Given the description of an element on the screen output the (x, y) to click on. 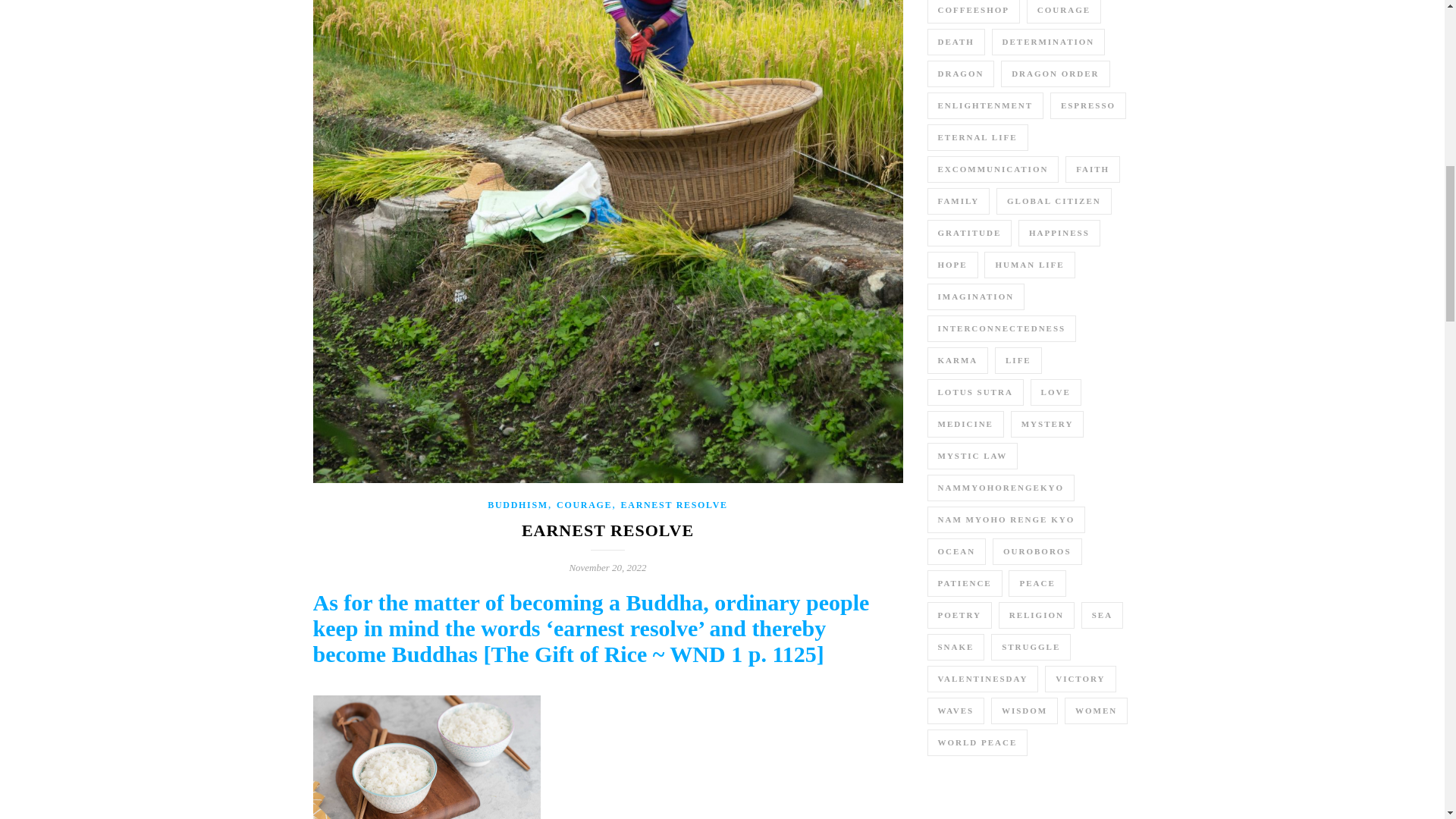
COURAGE (583, 504)
BUDDHISM (517, 504)
EARNEST RESOLVE (674, 504)
